Given the description of an element on the screen output the (x, y) to click on. 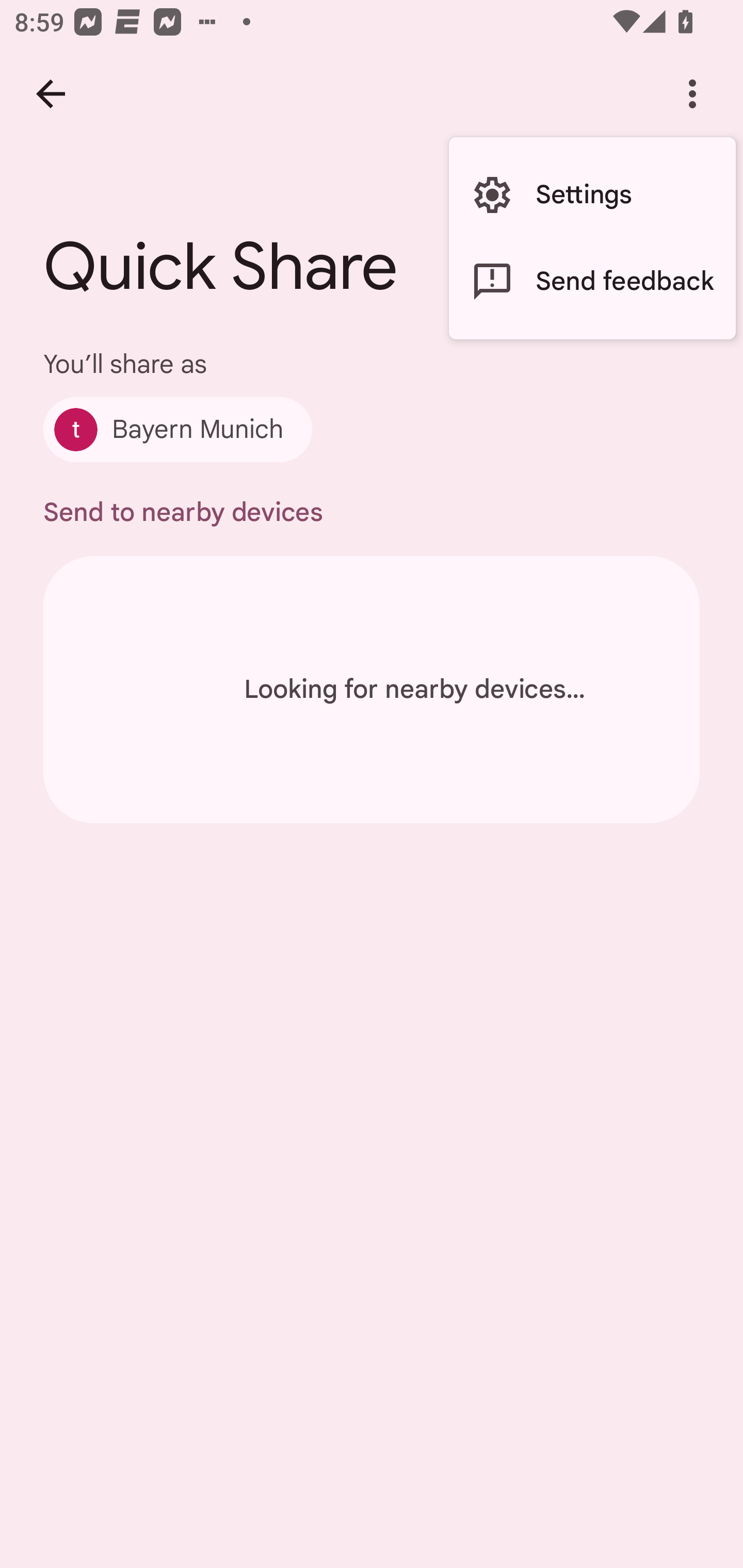
Settings (591, 195)
Send feedback (591, 281)
